Given the description of an element on the screen output the (x, y) to click on. 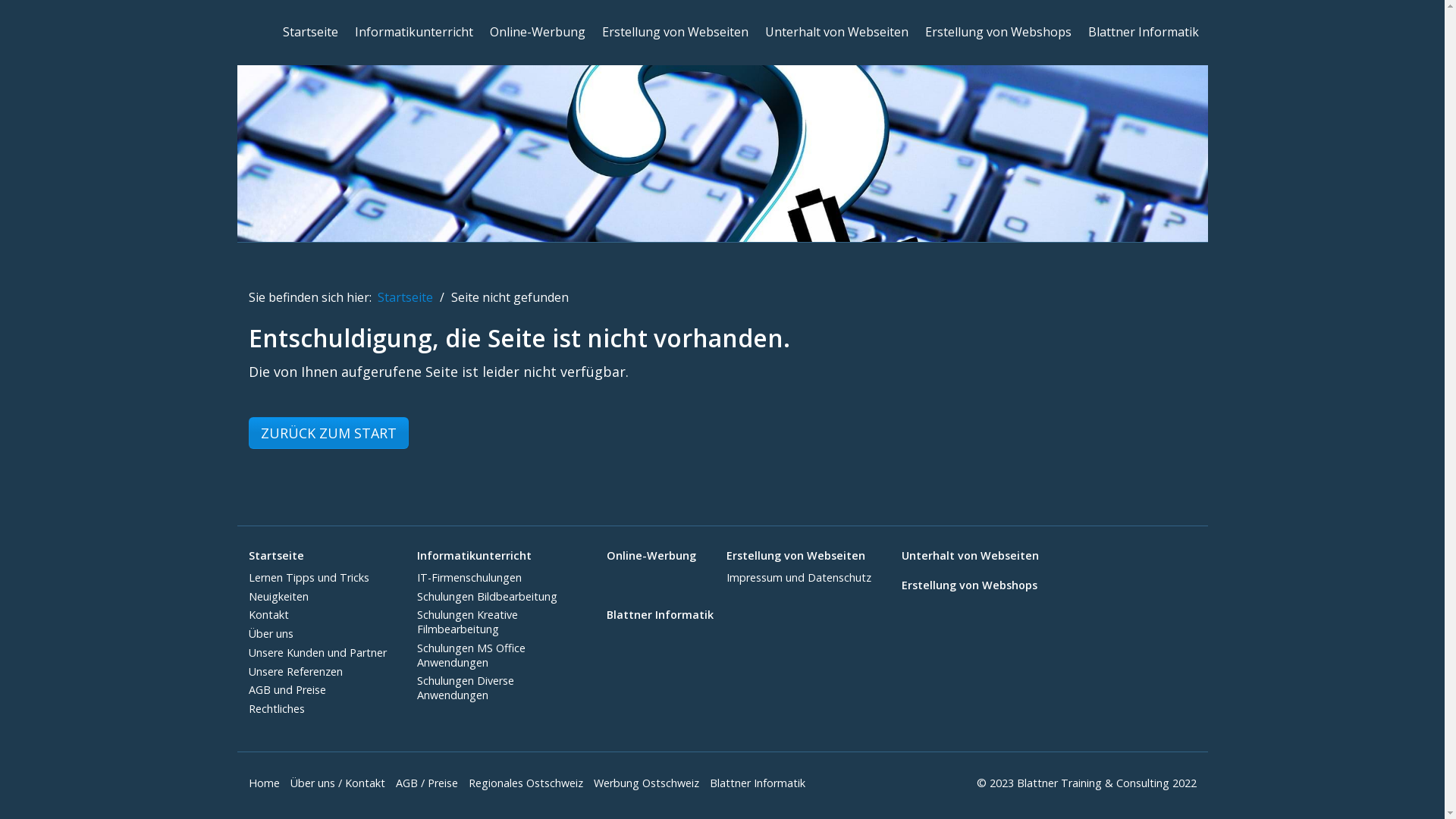
Informatikunterricht Element type: text (496, 556)
Blattner Informatik Element type: text (760, 783)
Startseite Element type: text (317, 556)
Unsere Kunden und Partner Element type: text (317, 652)
Blattner Informatik Element type: text (1142, 31)
Erstellung von Webseiten Element type: text (675, 31)
Blattner Informatik Element type: text (659, 615)
Startseite Element type: text (405, 296)
Schulungen Bildbearbeitung Element type: text (487, 596)
Erstellung von Webshops Element type: text (998, 31)
Online-Werbung Element type: text (651, 556)
Online-Werbung Element type: text (537, 31)
Schulungen Diverse Anwendungen Element type: text (465, 687)
AGB und Preise Element type: text (287, 689)
Regionales Ostschweiz Element type: text (529, 783)
Impressum und Datenschutz Element type: text (798, 577)
Erstellung von Webseiten Element type: text (798, 556)
Startseite Element type: text (309, 31)
Rechtliches Element type: text (276, 708)
Home Element type: text (267, 783)
Erstellung von Webshops Element type: text (968, 585)
Unsere Referenzen Element type: text (295, 671)
Schulungen Kreative Filmbearbeitung Element type: text (467, 621)
Schulungen MS Office Anwendungen Element type: text (471, 654)
Unterhalt von Webseiten Element type: text (969, 556)
AGB / Preise Element type: text (430, 783)
Neuigkeiten Element type: text (278, 596)
IT-Firmenschulungen Element type: text (469, 577)
Kontakt Element type: text (268, 614)
Lernen Tipps und Tricks Element type: text (308, 577)
Informatikunterricht Element type: text (413, 31)
Werbung Ostschweiz Element type: text (649, 783)
Seite nicht gefunden Element type: text (508, 296)
Unterhalt von Webseiten Element type: text (835, 31)
